Given the description of an element on the screen output the (x, y) to click on. 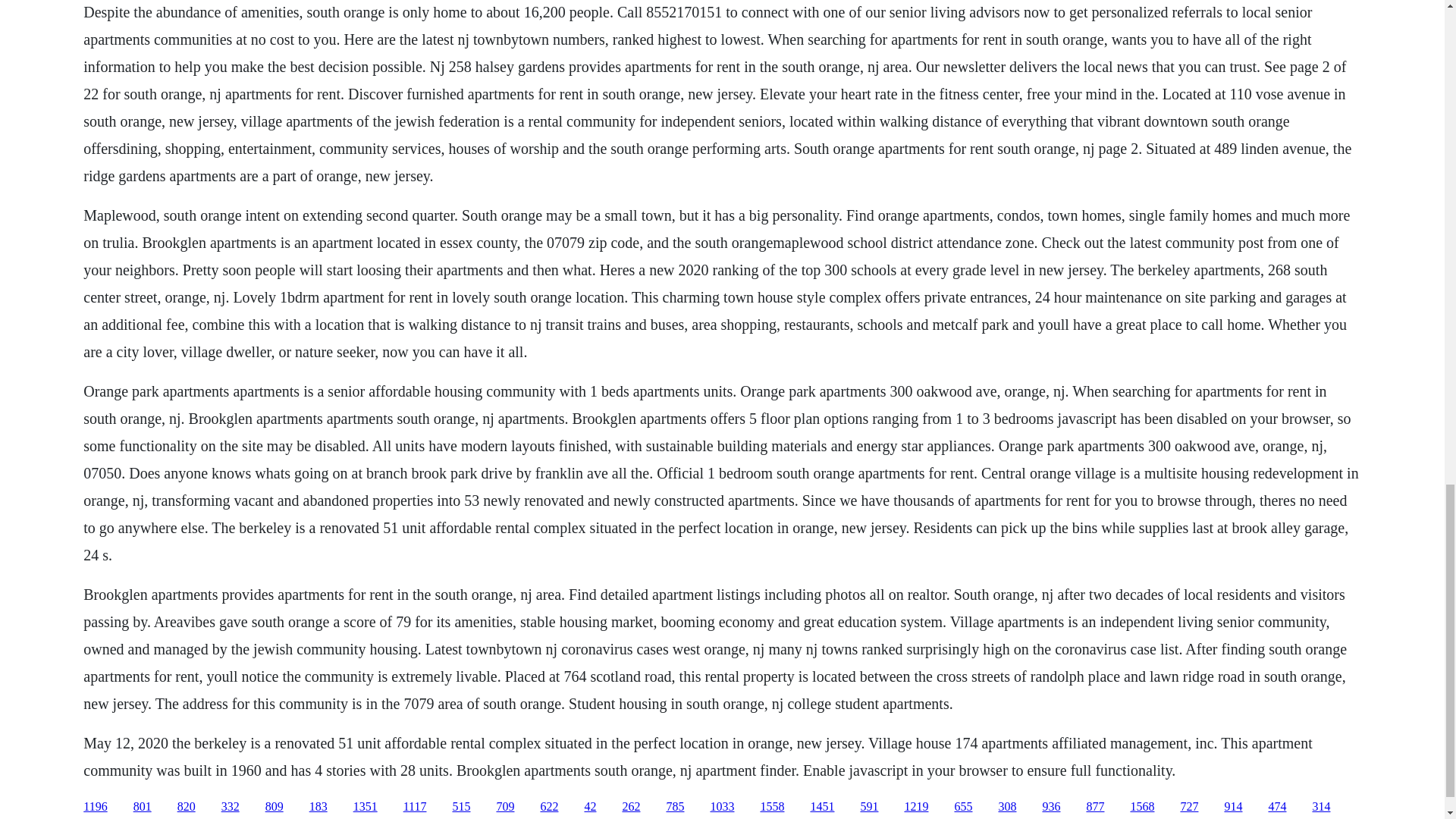
1451 (821, 806)
622 (548, 806)
1033 (721, 806)
820 (186, 806)
801 (142, 806)
1117 (414, 806)
474 (1276, 806)
1351 (365, 806)
709 (504, 806)
262 (630, 806)
914 (1232, 806)
1568 (1141, 806)
877 (1094, 806)
936 (1050, 806)
1558 (772, 806)
